Given the description of an element on the screen output the (x, y) to click on. 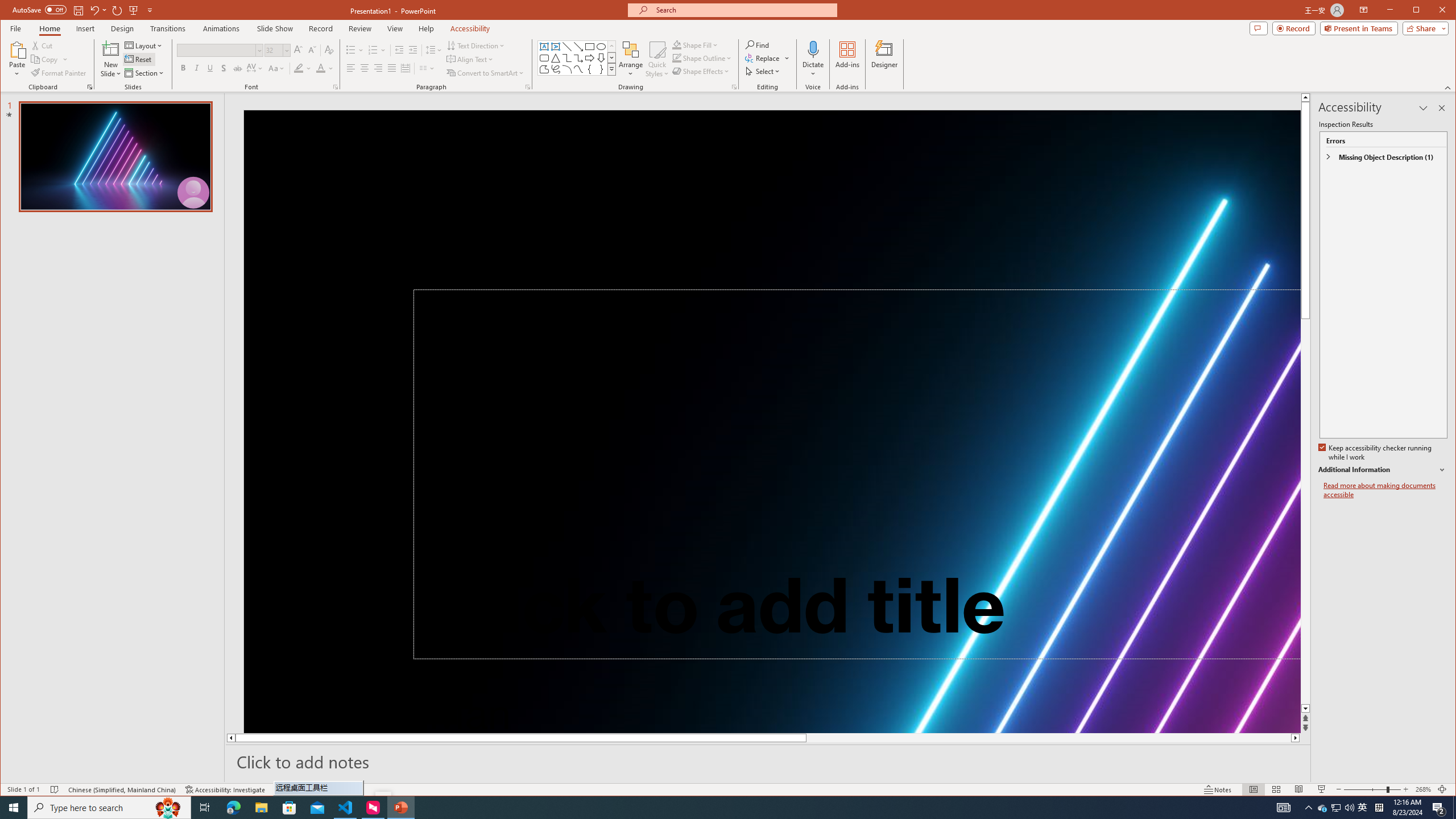
Accessibility Checker Accessibility: Investigate (225, 789)
Align Left (350, 68)
Office Clipboard... (89, 86)
Row up (611, 46)
Cut (42, 45)
Text Direction (476, 45)
Q2790: 100% (1349, 807)
Notification Chevron (1308, 807)
